Given the description of an element on the screen output the (x, y) to click on. 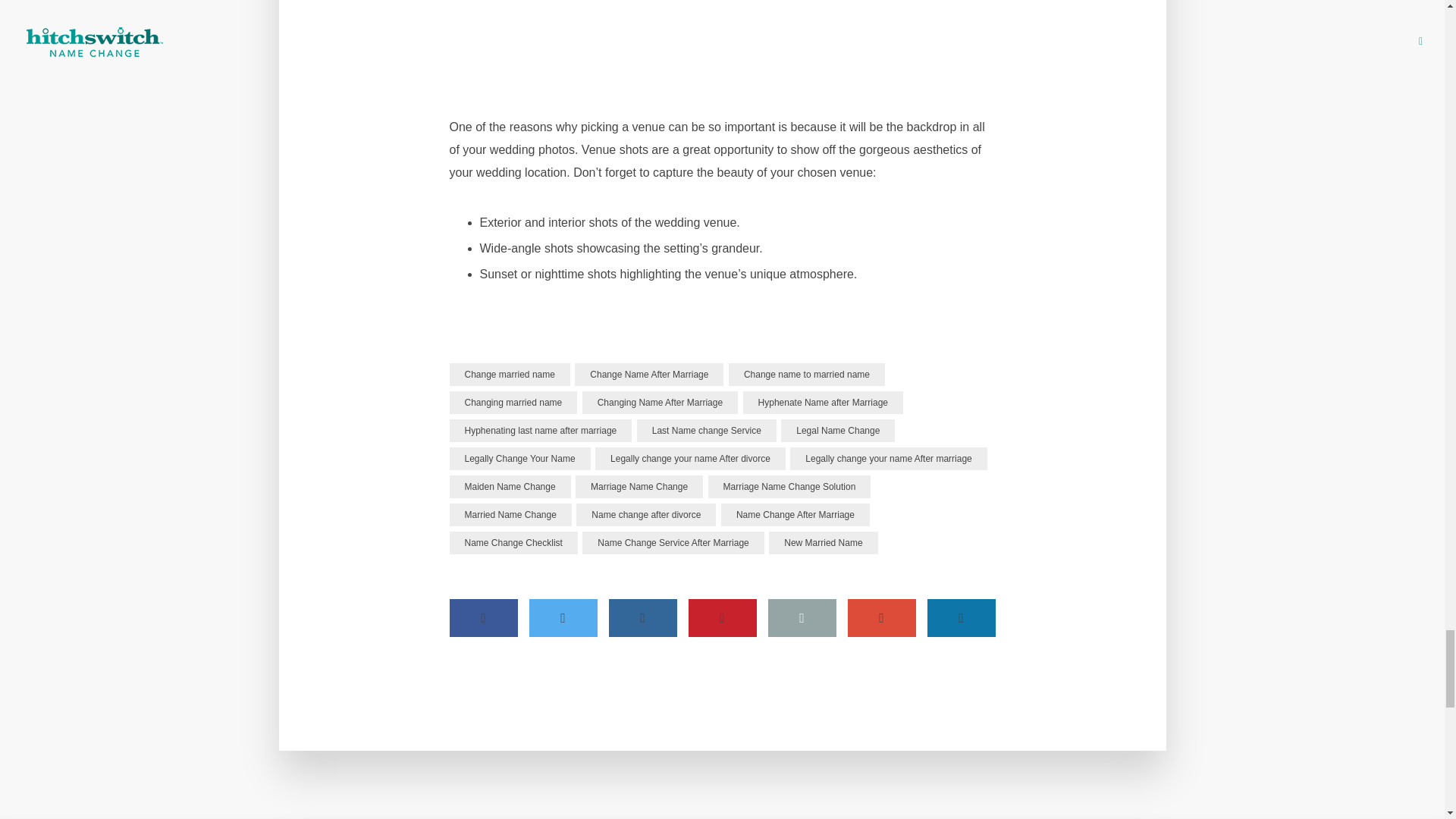
Change name to married name (807, 374)
Hyphenating last name after marriage (539, 430)
Last Name change Service (706, 430)
Change Name After Marriage (649, 374)
Legal Name Change (837, 430)
New Married Name (822, 542)
Marriage Name Change (639, 486)
Name Change Service After Marriage (672, 542)
Name Change Checklist (512, 542)
Change married name (508, 374)
Legally Change Your Name (518, 458)
Legally change your name After divorce (690, 458)
Hyphenate Name after Marriage (822, 402)
Changing married name (512, 402)
Married Name Change (509, 514)
